Given the description of an element on the screen output the (x, y) to click on. 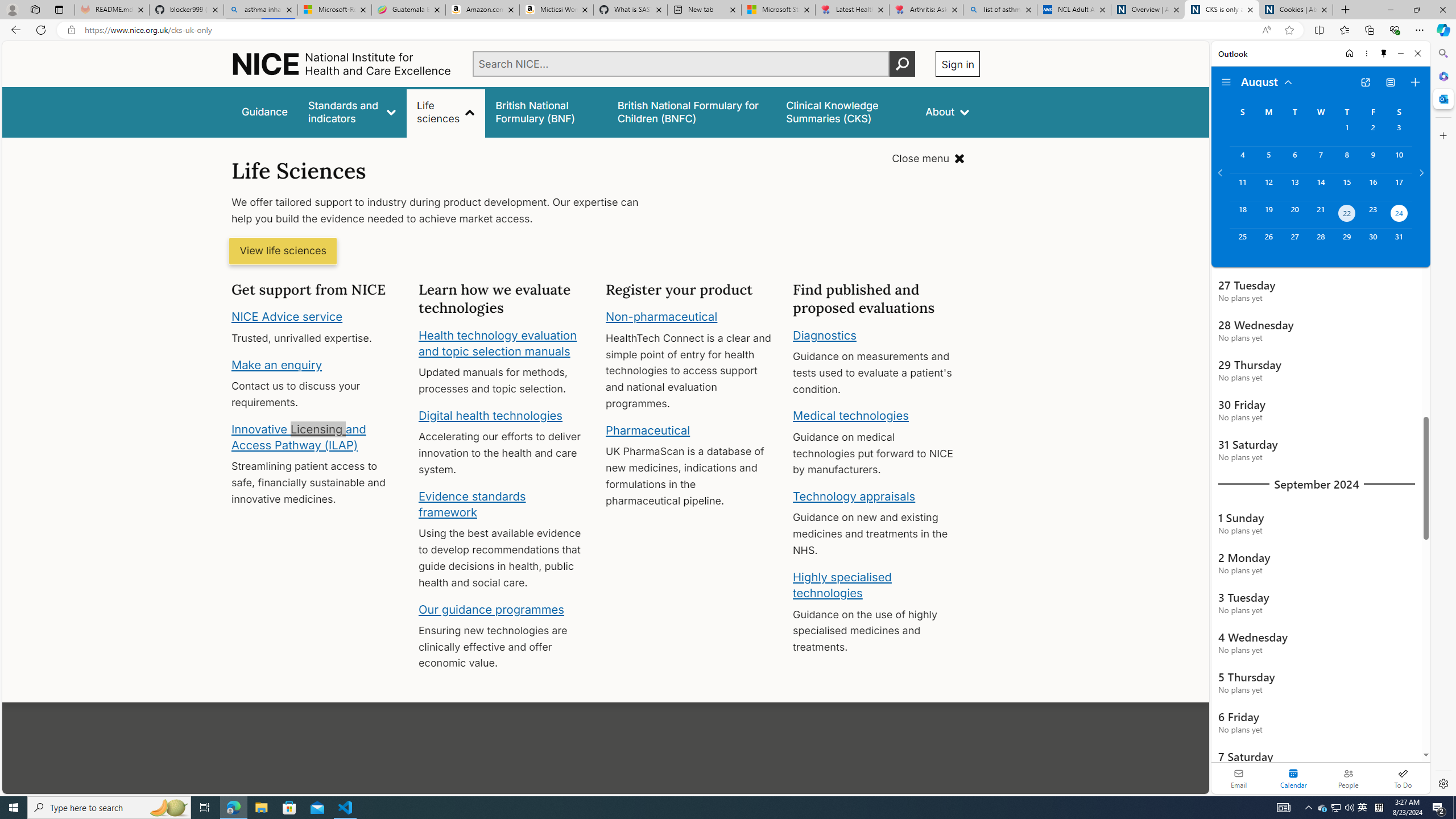
Our guidance programmes (490, 608)
Friday, August 2, 2024.  (1372, 132)
Monday, August 26, 2024.  (1268, 241)
